Given the description of an element on the screen output the (x, y) to click on. 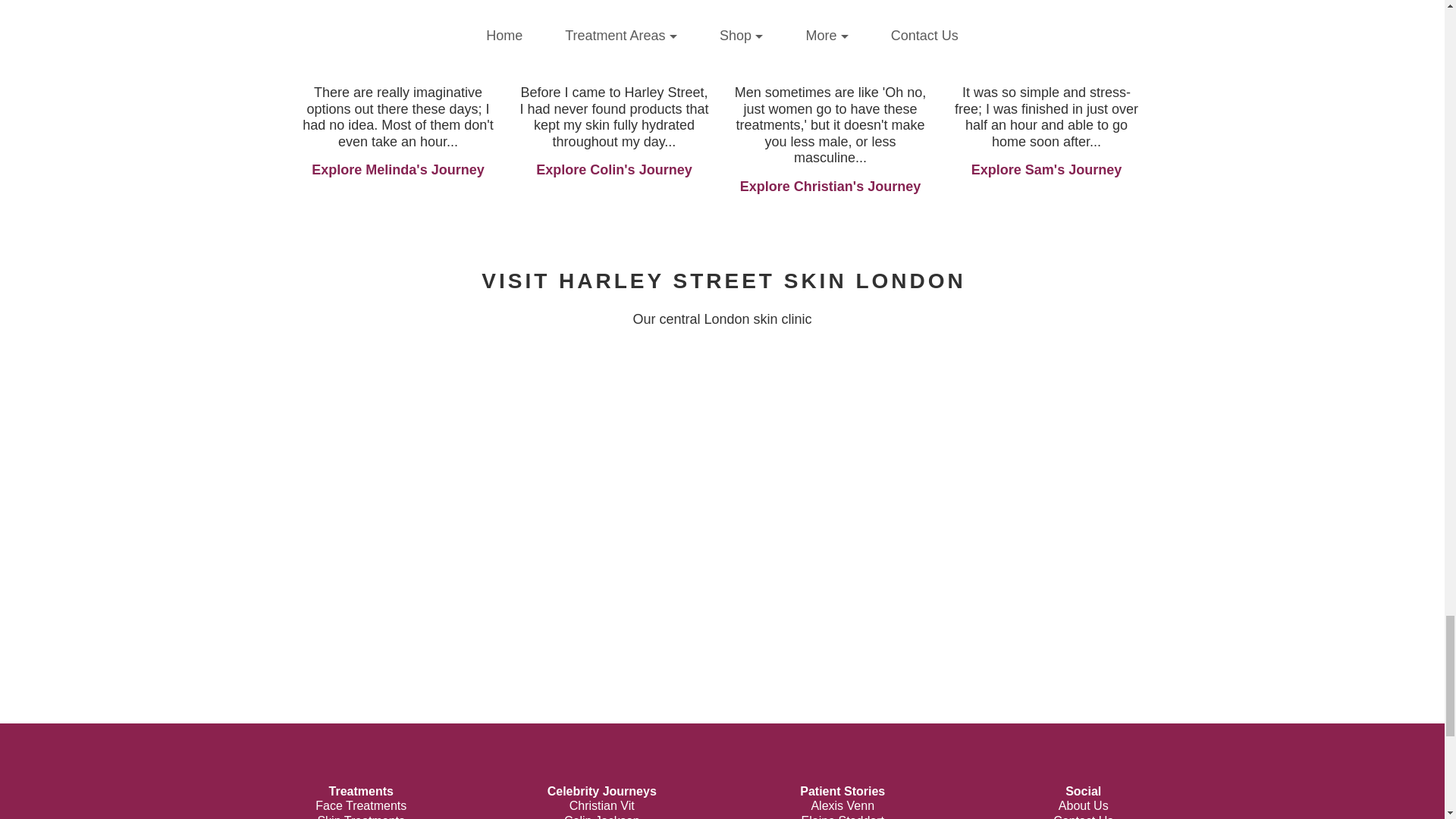
Colin Jackson - Skincare (613, 12)
Melinda Messenger - PDO Thread Lift (398, 12)
